Given the description of an element on the screen output the (x, y) to click on. 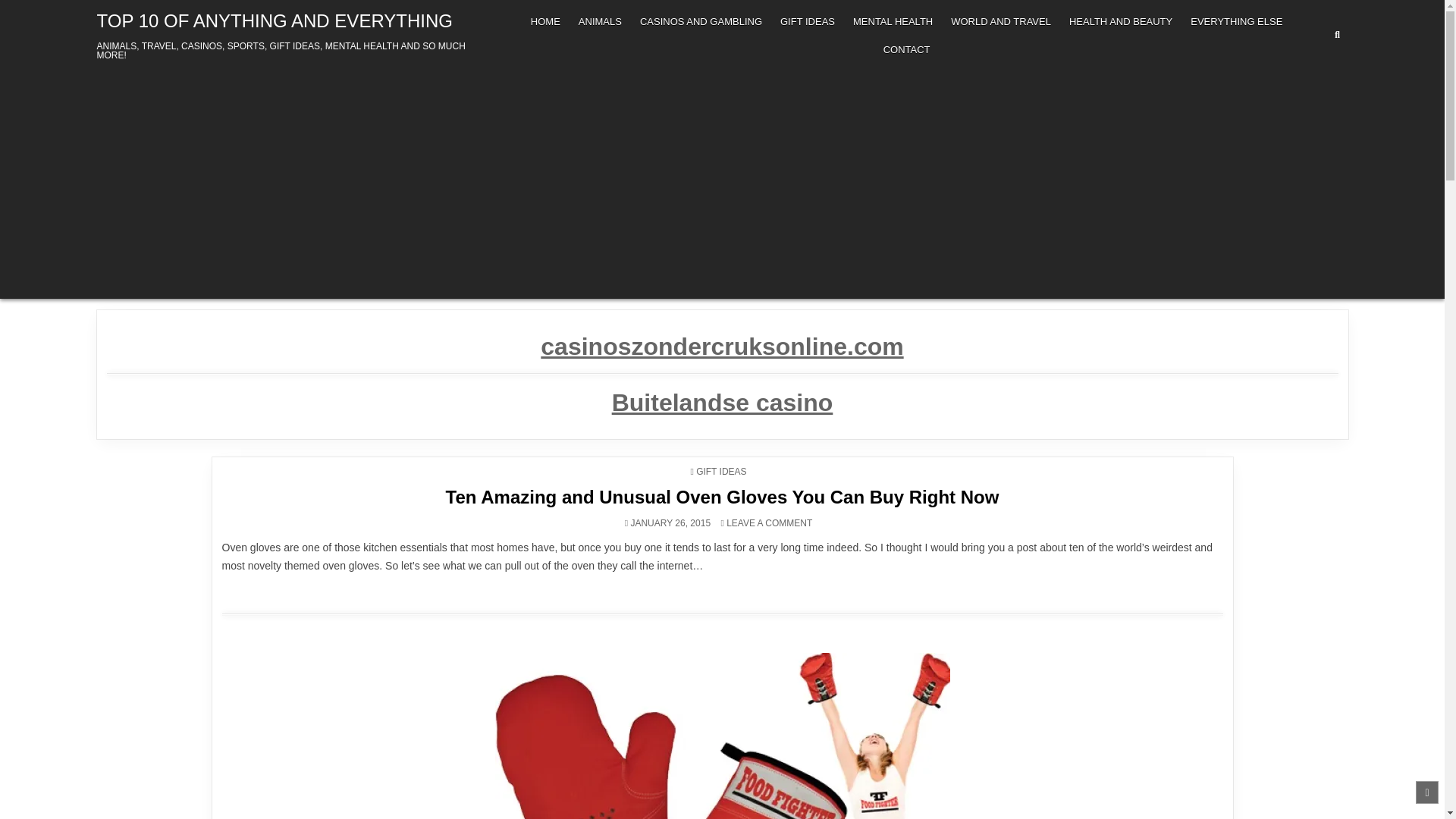
Buitelandse casino (721, 402)
CASINOS AND GAMBLING (700, 21)
ANIMALS (599, 21)
TOP 10 OF ANYTHING AND EVERYTHING (274, 20)
EVERYTHING ELSE (1235, 21)
GIFT IDEAS (720, 471)
HEALTH AND BEAUTY (1119, 21)
Ten Amazing and Unusual Oven Gloves You Can Buy Right Now (721, 496)
HOME (545, 21)
casinoszondercruksonline.com (721, 346)
